Given the description of an element on the screen output the (x, y) to click on. 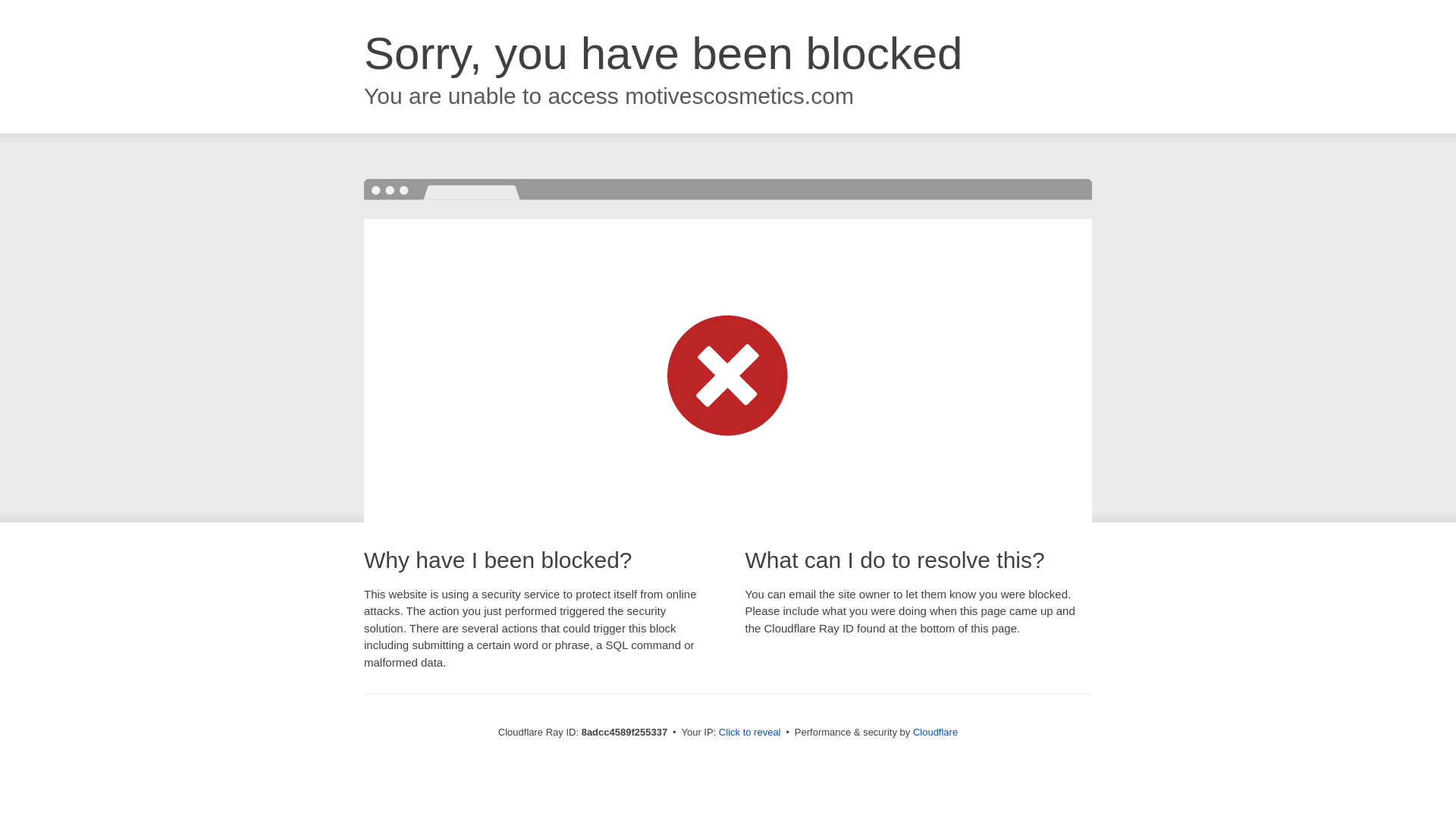
Click to reveal (749, 732)
Cloudflare (935, 731)
